Given the description of an element on the screen output the (x, y) to click on. 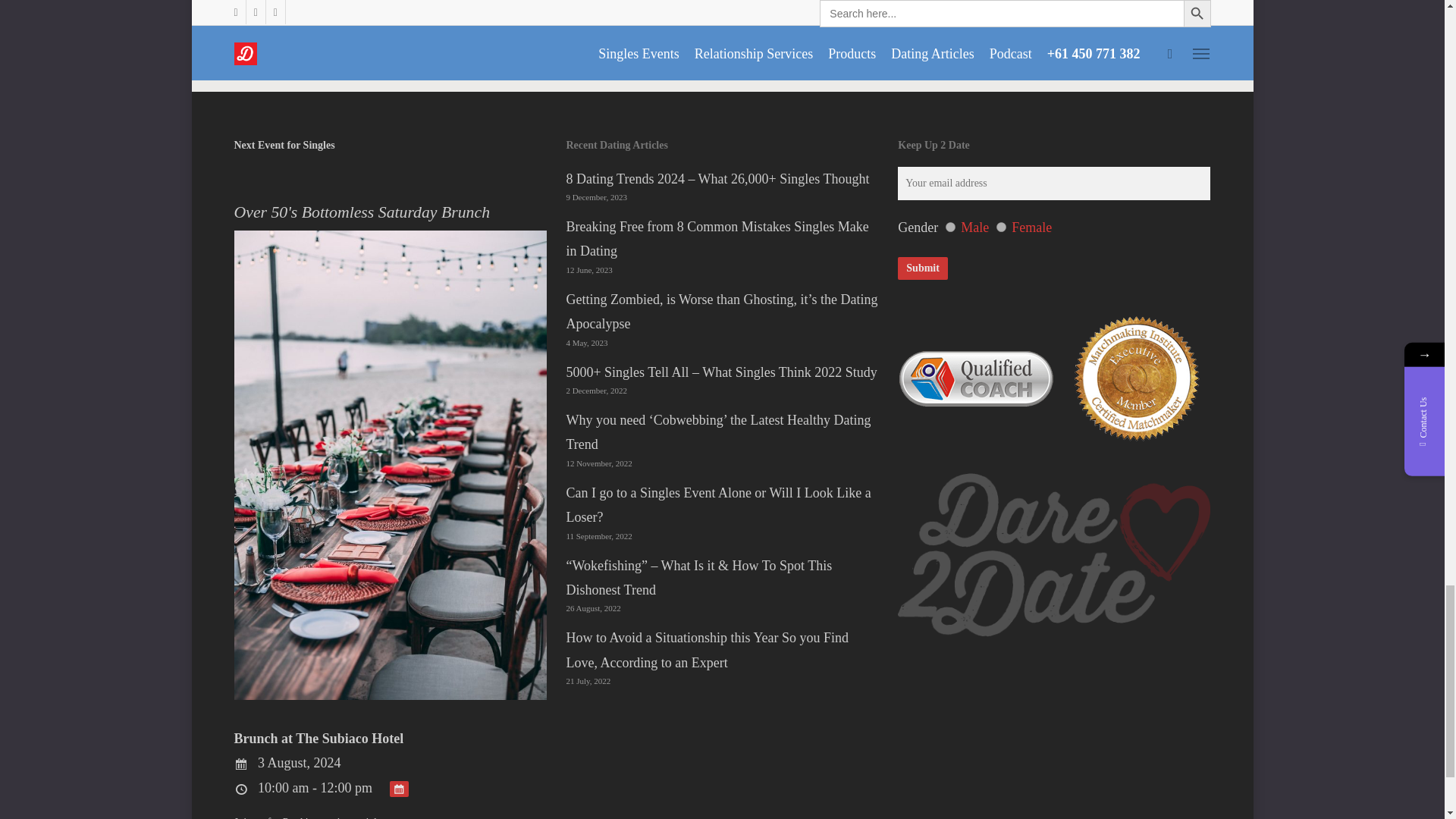
Submit (922, 268)
Add to iCal Calendar (399, 788)
Male (949, 226)
Female (1000, 226)
Next Event for Singles (283, 144)
BROWSE OUR DATING ARTICLES (872, 40)
